Given the description of an element on the screen output the (x, y) to click on. 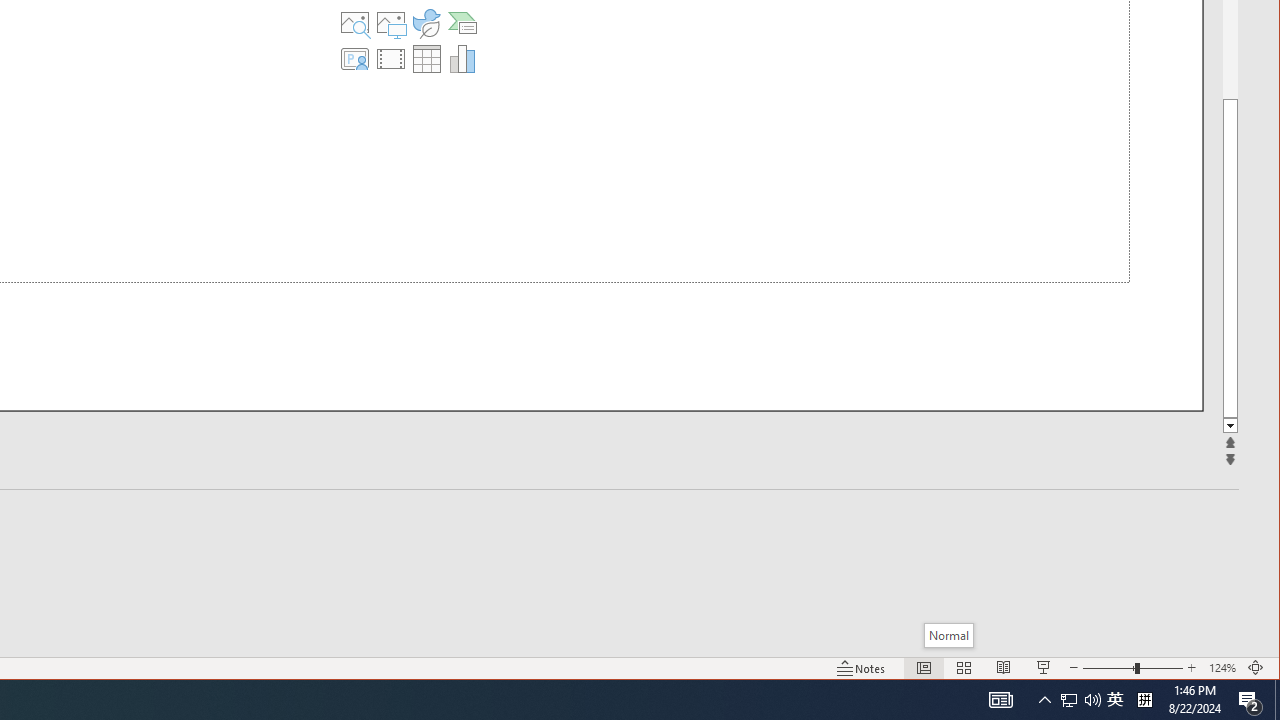
Pictures (391, 22)
Insert Video (391, 58)
Zoom 124% (1222, 668)
Insert Table (426, 58)
Insert a SmartArt Graphic (462, 22)
Stock Images (355, 22)
